Given the description of an element on the screen output the (x, y) to click on. 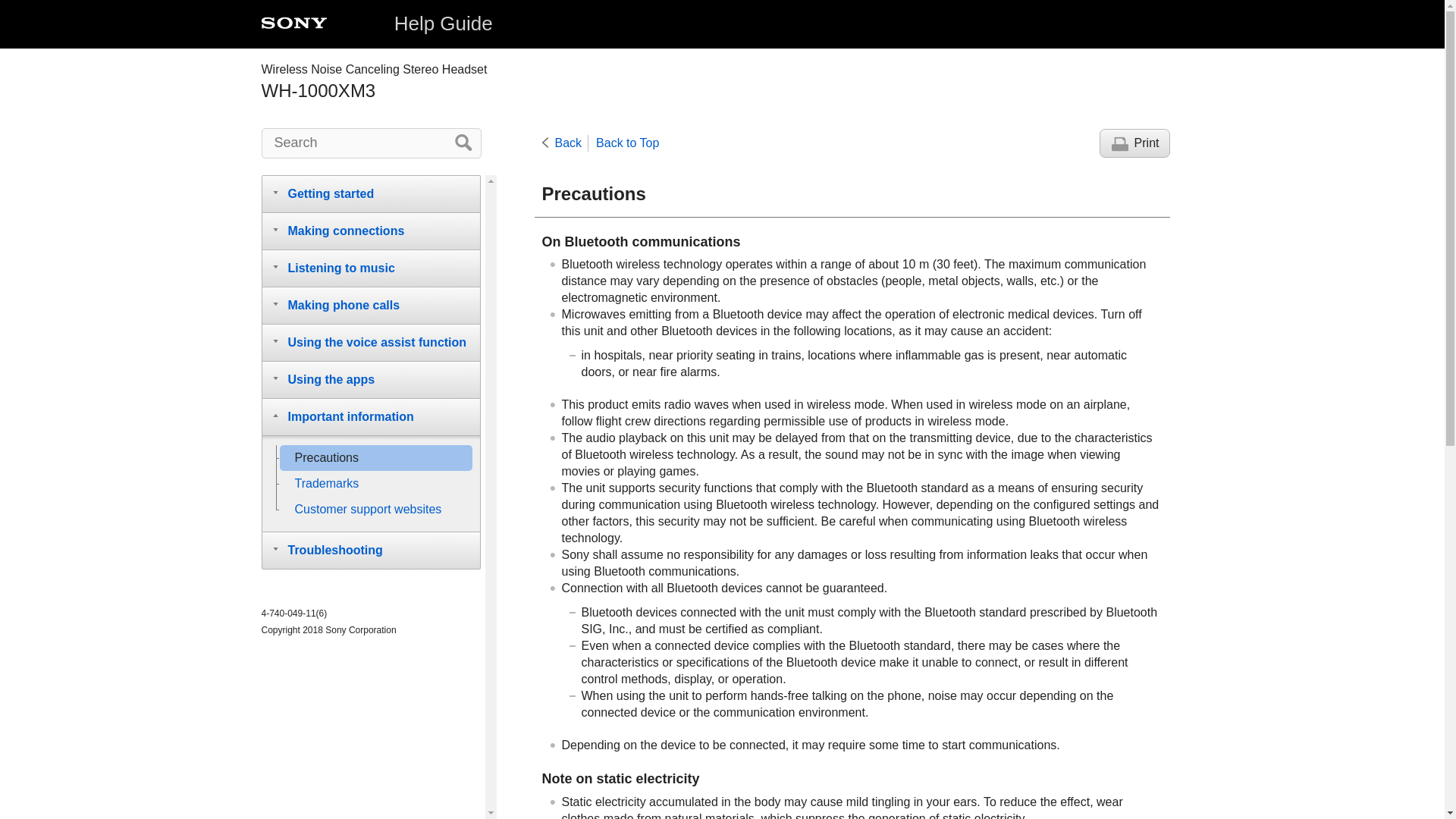
Help Guide (443, 23)
Back (564, 142)
Getting started (370, 193)
Making connections (370, 230)
Back to Top (627, 142)
Search (370, 142)
Print (1134, 143)
